Given the description of an element on the screen output the (x, y) to click on. 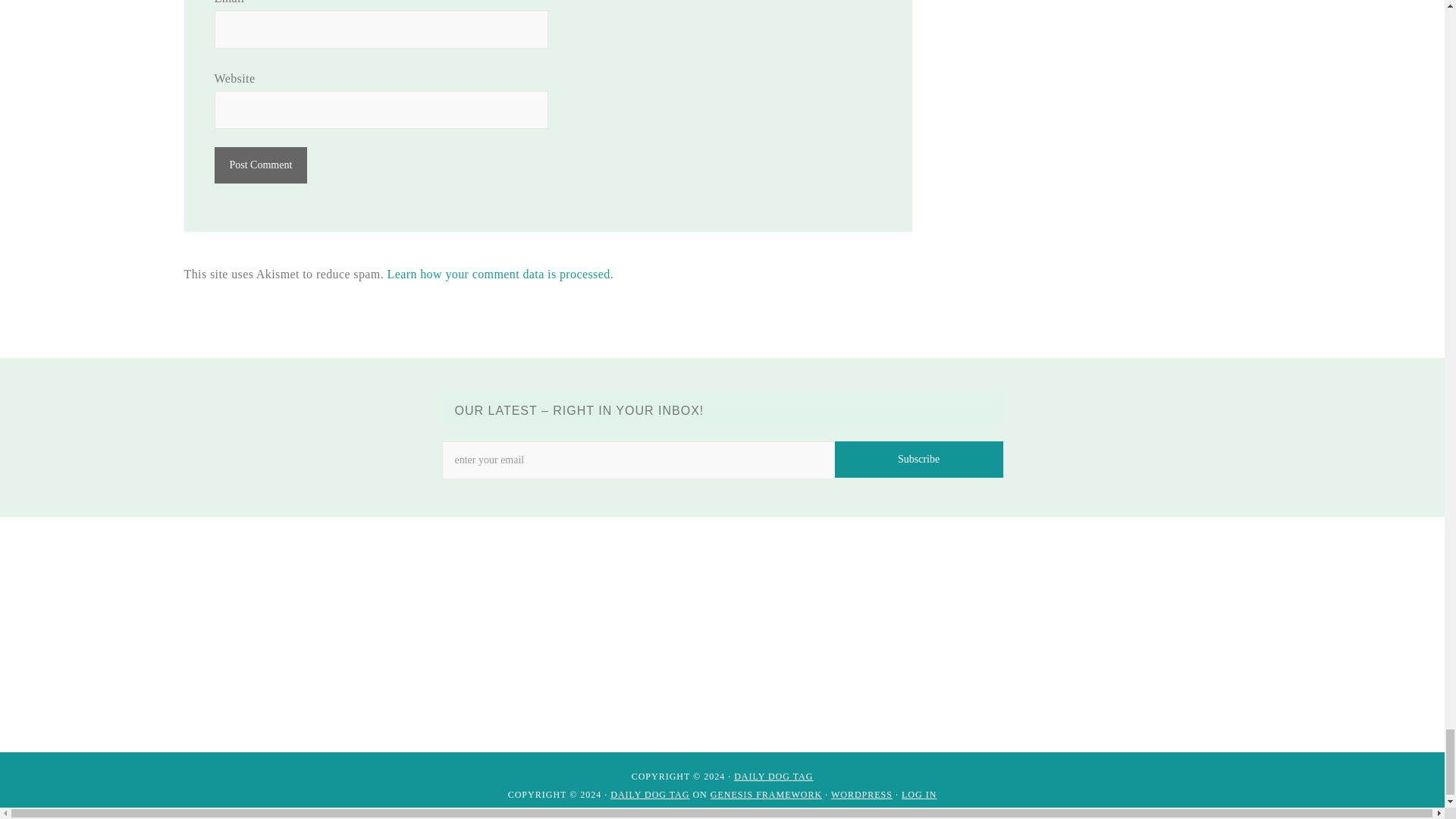
Subscribe (918, 459)
Post Comment (260, 165)
